Given the description of an element on the screen output the (x, y) to click on. 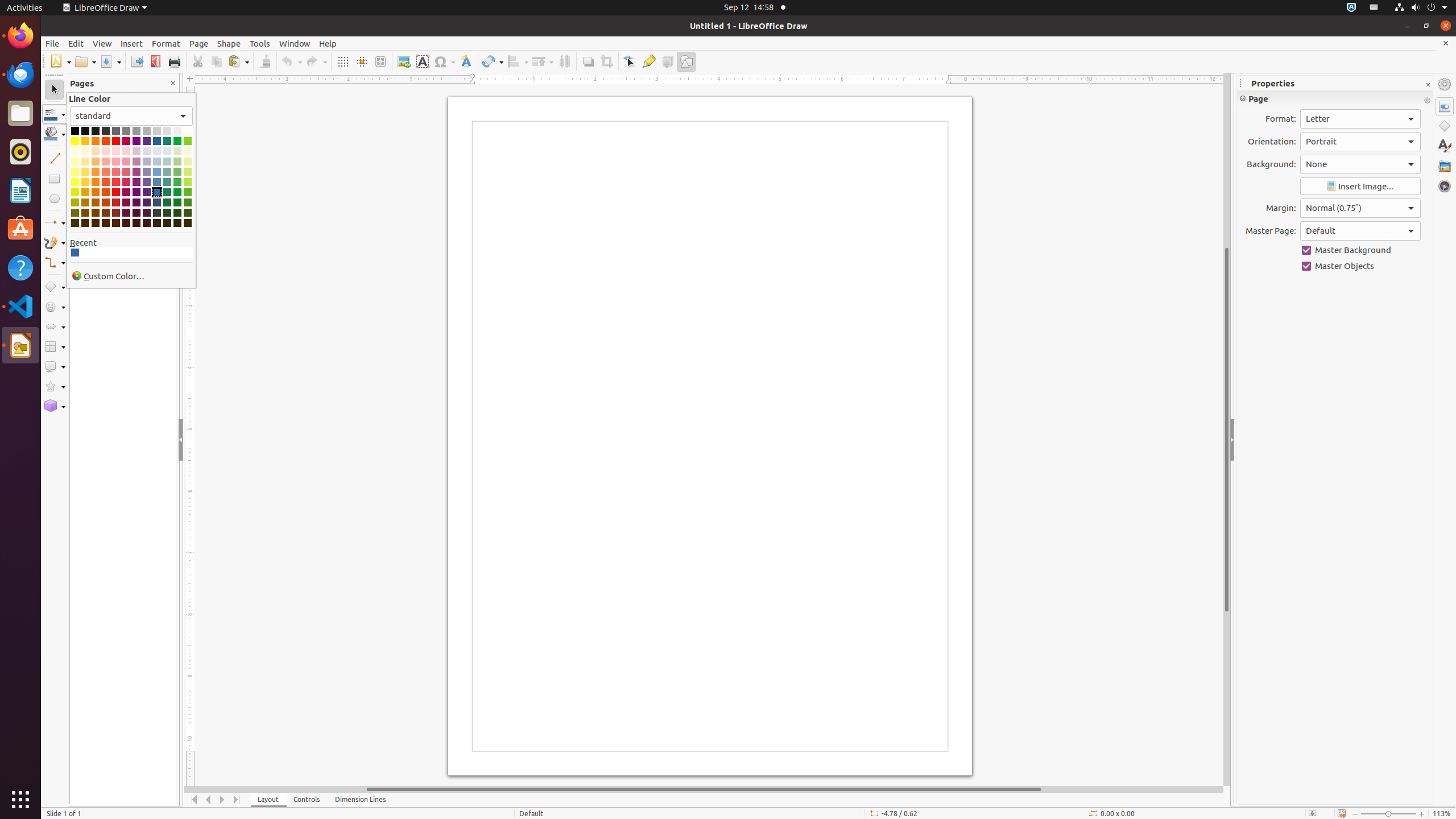
Clone Element type: push-button (264, 61)
Dark Brick 3 Element type: list-item (105, 212)
Light Gray 1 Element type: list-item (136, 130)
Thunderbird Mail Element type: push-button (20, 74)
Dark Yellow 3 Element type: list-item (74, 212)
